Given the description of an element on the screen output the (x, y) to click on. 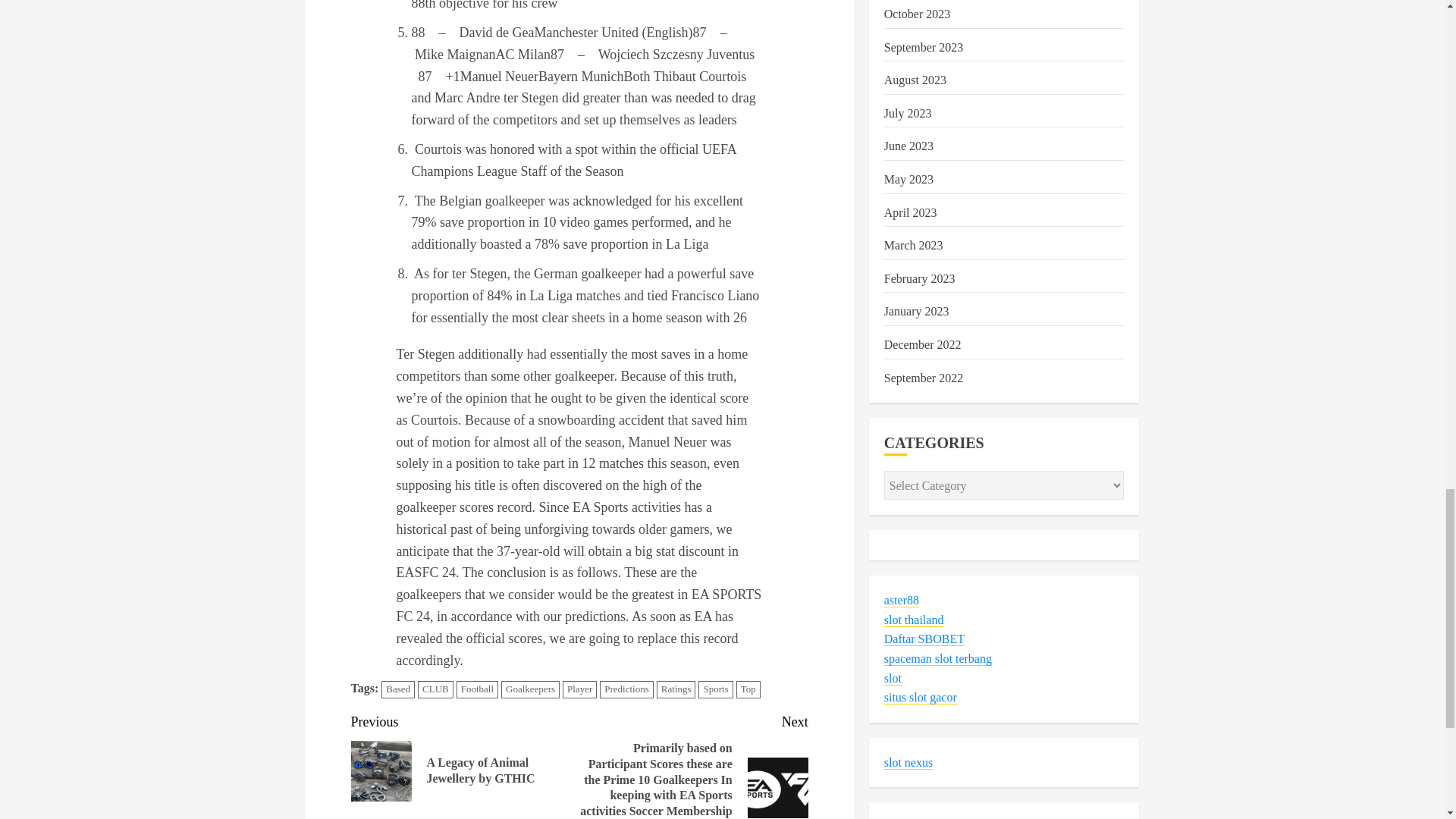
Based (397, 689)
Goalkeepers (529, 689)
CLUB (434, 689)
Sports (715, 689)
Player (579, 689)
Football (477, 689)
Top (748, 689)
Predictions (626, 689)
Ratings (675, 689)
A Legacy of Animal Jewellery by GTHIC (380, 771)
